Given the description of an element on the screen output the (x, y) to click on. 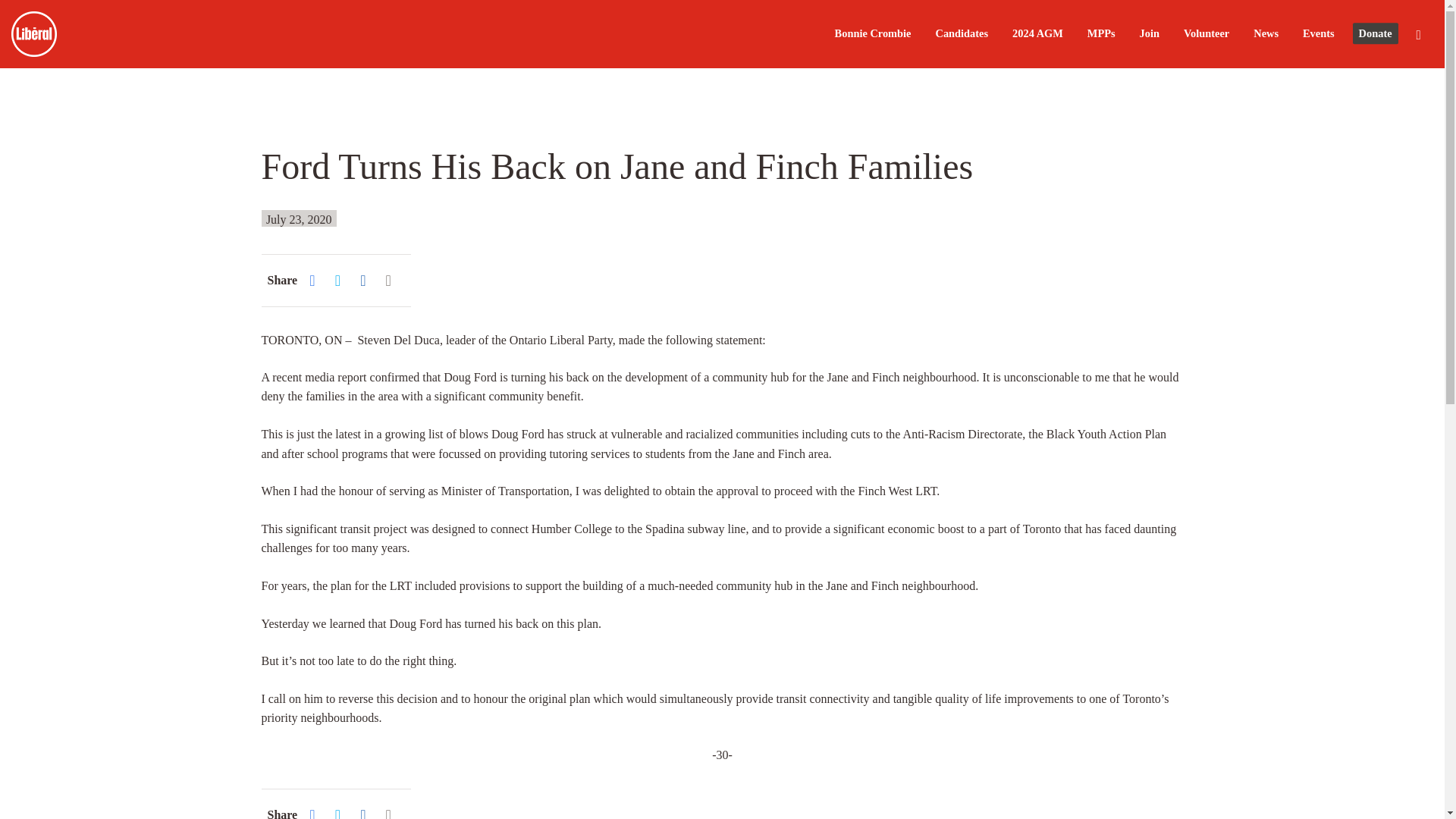
Volunteer (1205, 33)
Share on LinkedIn (365, 812)
Donate (1374, 34)
Share on Twitter (340, 812)
News (1265, 33)
Events (1319, 33)
Candidates (961, 33)
2024 AGM (1036, 33)
Join (1149, 33)
Share on Facebook (314, 812)
